Given the description of an element on the screen output the (x, y) to click on. 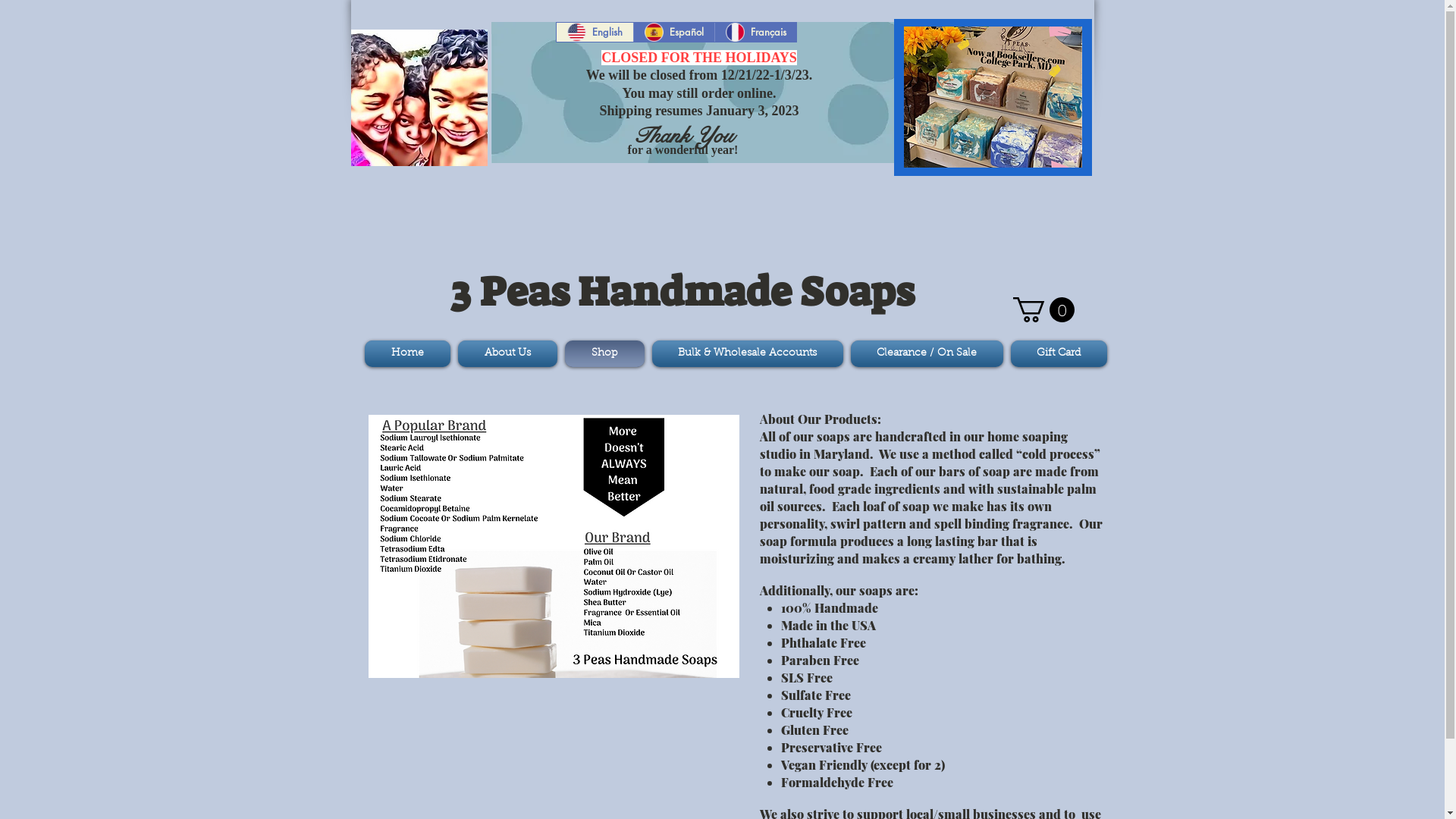
About Us Element type: text (506, 353)
English Element type: text (594, 31)
3 Peas Handmade Soaps Element type: hover (418, 97)
Clearance / On Sale Element type: text (926, 353)
0 Element type: text (1043, 309)
Gift Card Element type: text (1057, 353)
IMG_4419.jpg Element type: hover (992, 96)
Shop Element type: text (604, 353)
Bulk & Wholesale Accounts Element type: text (746, 353)
Home Element type: text (408, 353)
